Given the description of an element on the screen output the (x, y) to click on. 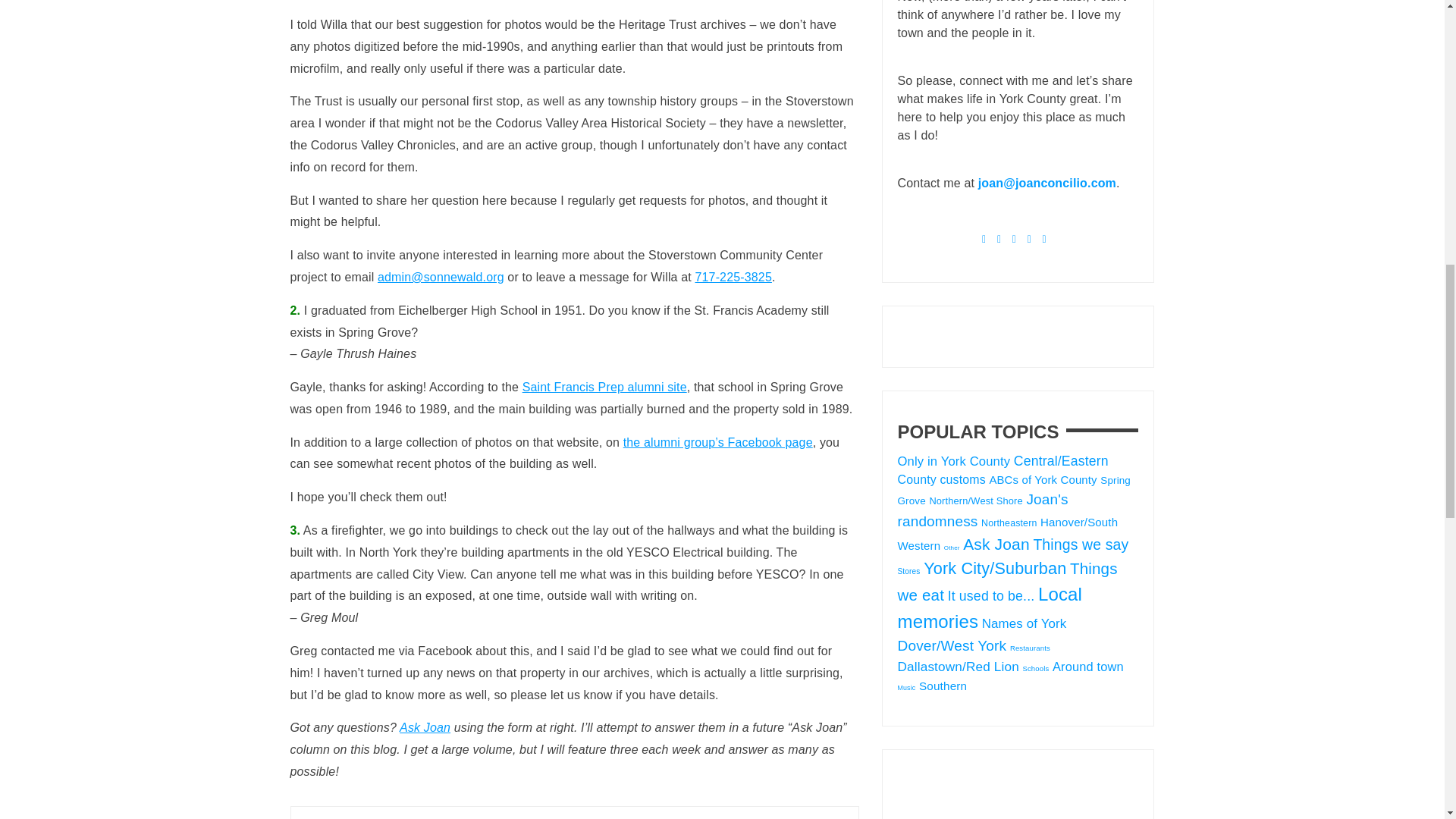
County customs (941, 479)
Ask Joan (423, 727)
ABCs of York County (1042, 479)
717-225-3825 (732, 277)
Saint Francis Prep alumni site (604, 386)
Only in York County (954, 461)
